Given the description of an element on the screen output the (x, y) to click on. 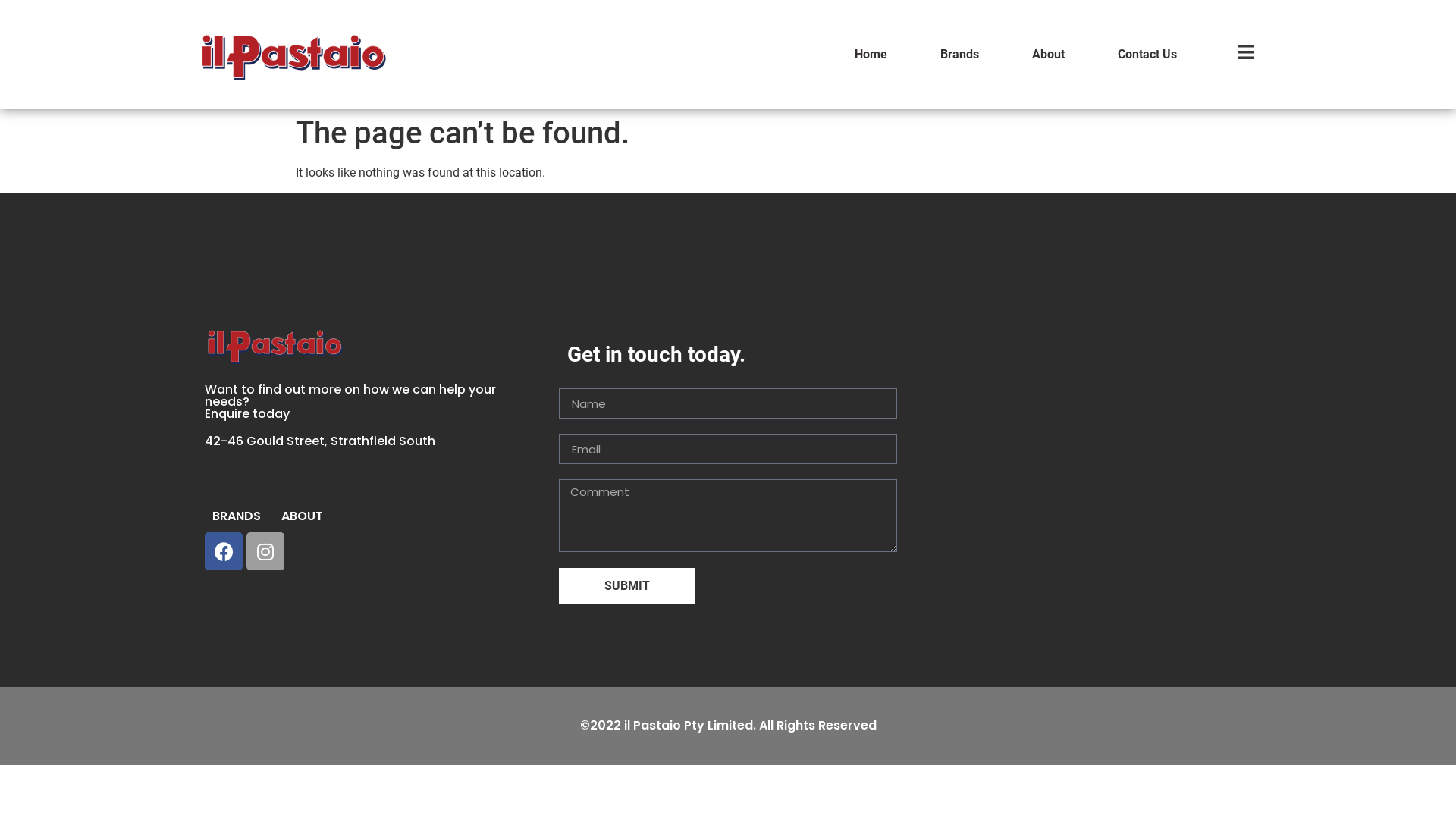
Home Element type: text (870, 54)
Brands Element type: text (959, 54)
BRANDS Element type: text (236, 515)
Contact Us Element type: text (1147, 54)
ABOUT Element type: text (302, 515)
About Element type: text (1048, 54)
ilPastaio_Final Element type: hover (273, 344)
SUBMIT Element type: text (626, 585)
ilPastaio_Final Element type: hover (291, 54)
